Given the description of an element on the screen output the (x, y) to click on. 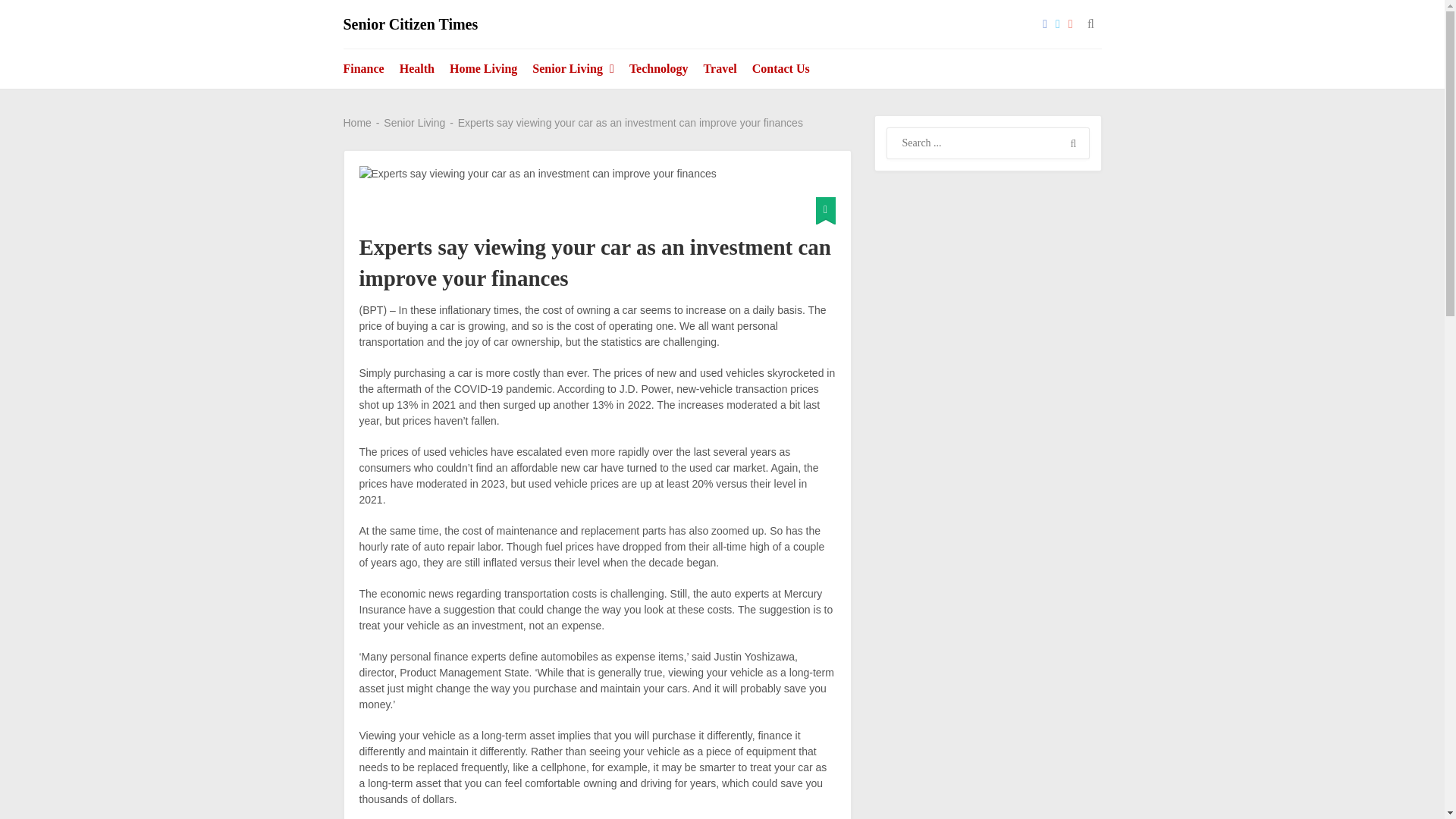
Contact Us (780, 68)
Travel (719, 68)
Health (416, 68)
Finance (366, 68)
Senior Citizen Times (409, 24)
Senior Living (572, 68)
Home (356, 122)
Senior Living (414, 122)
Home Living (483, 68)
Technology (658, 68)
